Given the description of an element on the screen output the (x, y) to click on. 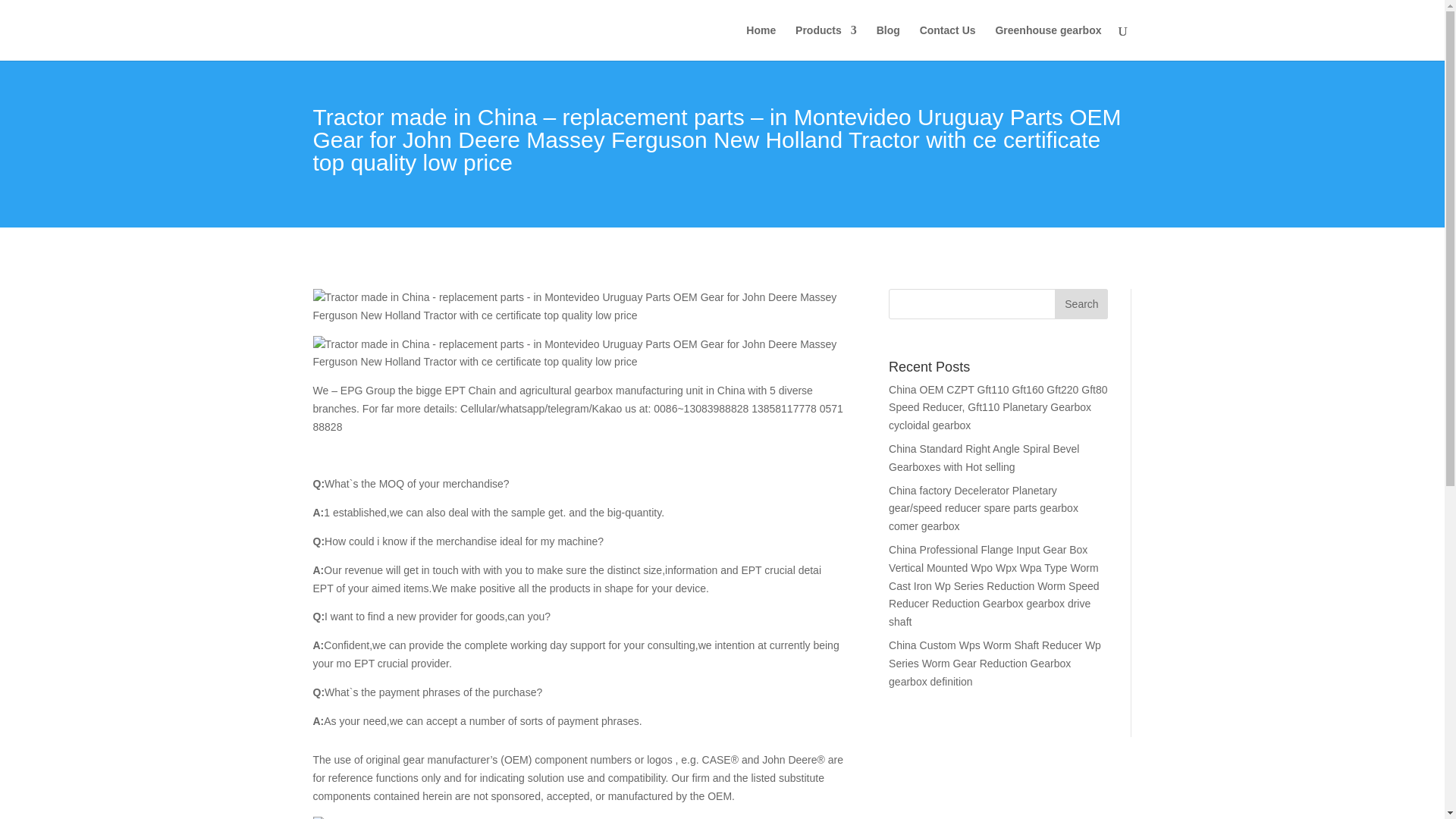
Search (1081, 304)
Contact Us (947, 42)
Products (825, 42)
Greenhouse gearbox (1047, 42)
